Given the description of an element on the screen output the (x, y) to click on. 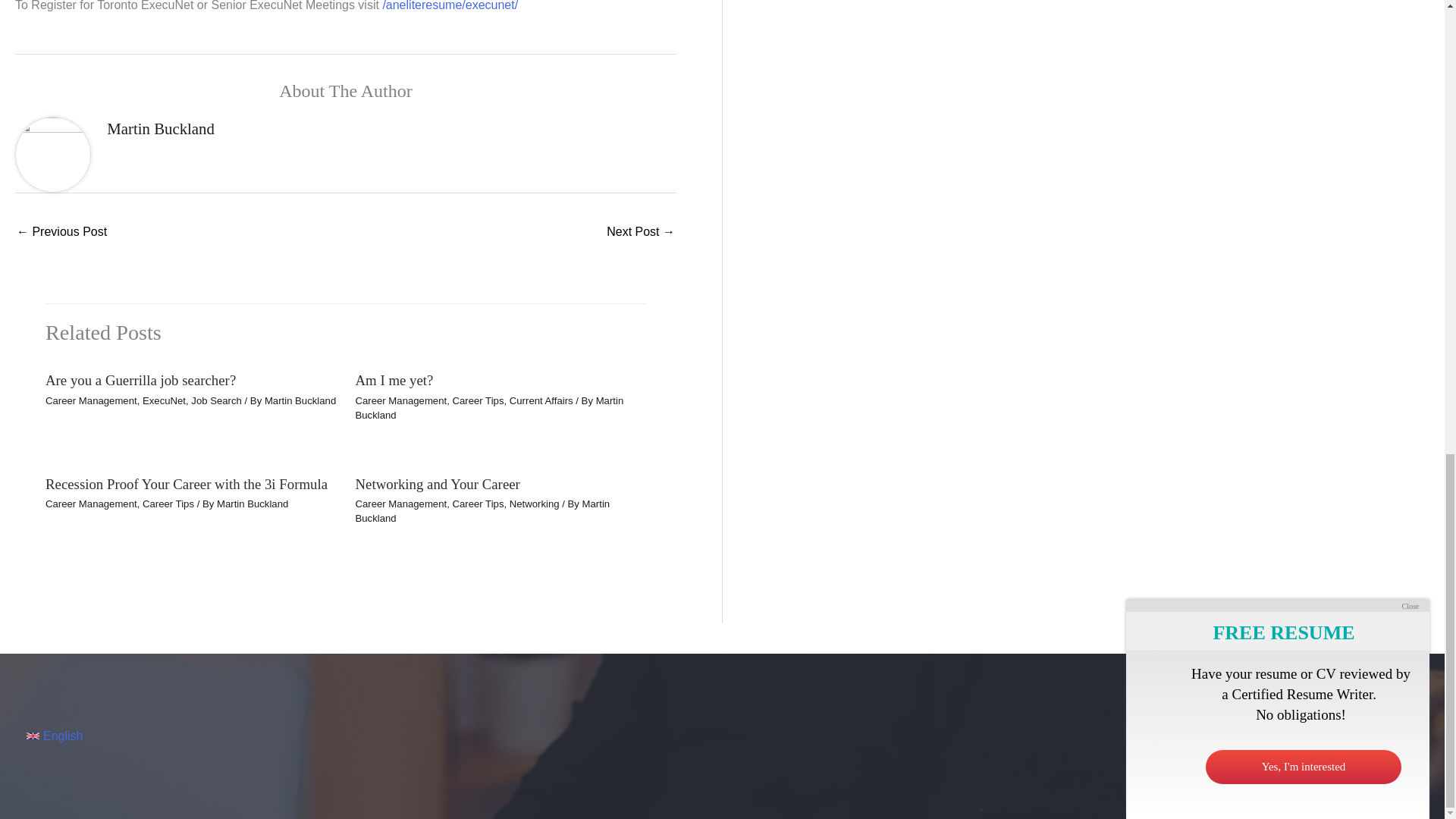
View all posts by Martin Buckland (300, 400)
Job Search (215, 400)
View all posts by Martin Buckland (489, 407)
ExecuNet (164, 400)
More Connections and More Opportunities (641, 233)
Twitter is Five Years Old! (61, 233)
Are you a Guerrilla job searcher? (140, 380)
View all posts by Martin Buckland (482, 510)
Martin Buckland (160, 128)
Career Management (90, 400)
